Given the description of an element on the screen output the (x, y) to click on. 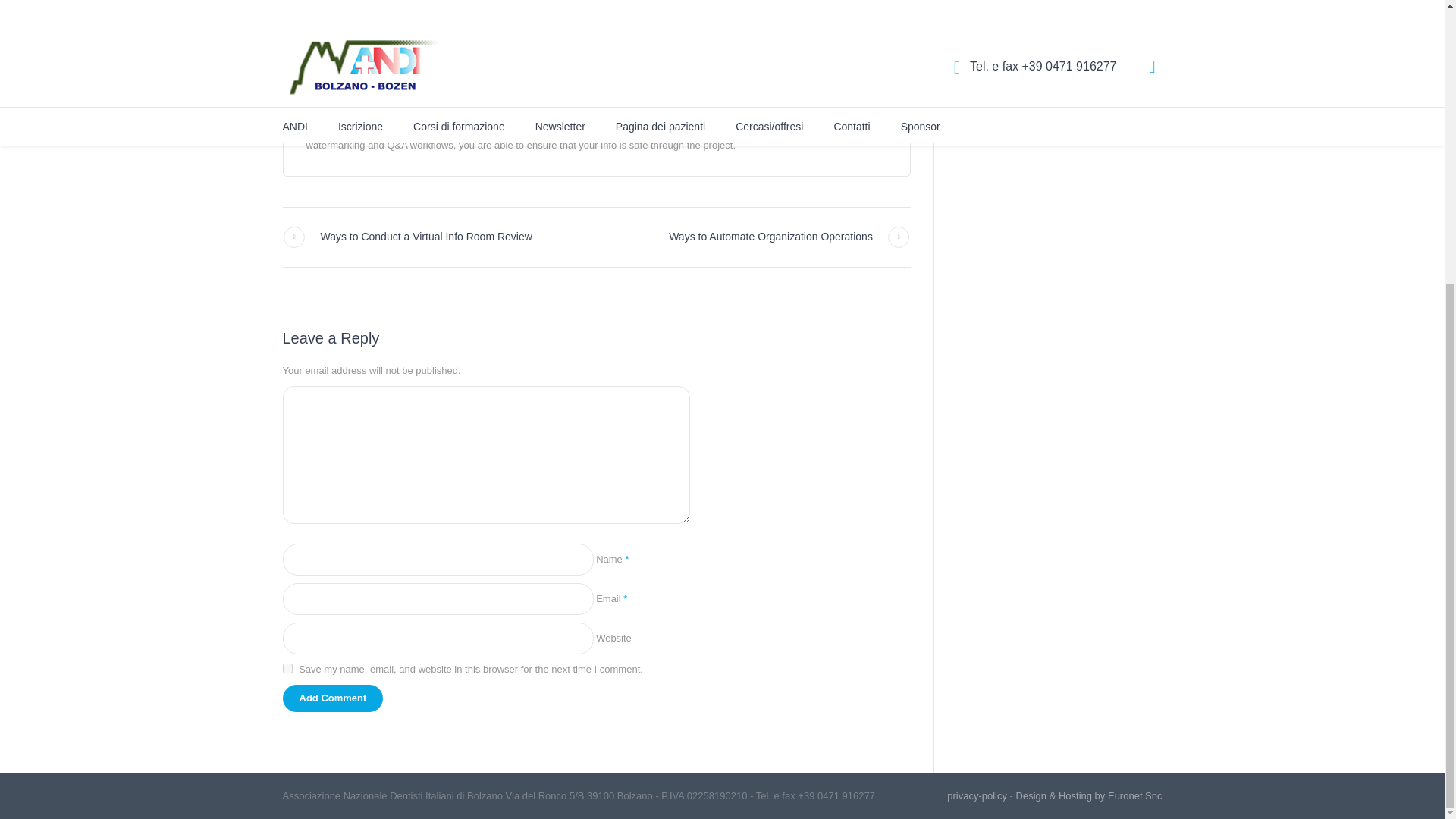
Add Comment (332, 697)
yes (287, 668)
